Given the description of an element on the screen output the (x, y) to click on. 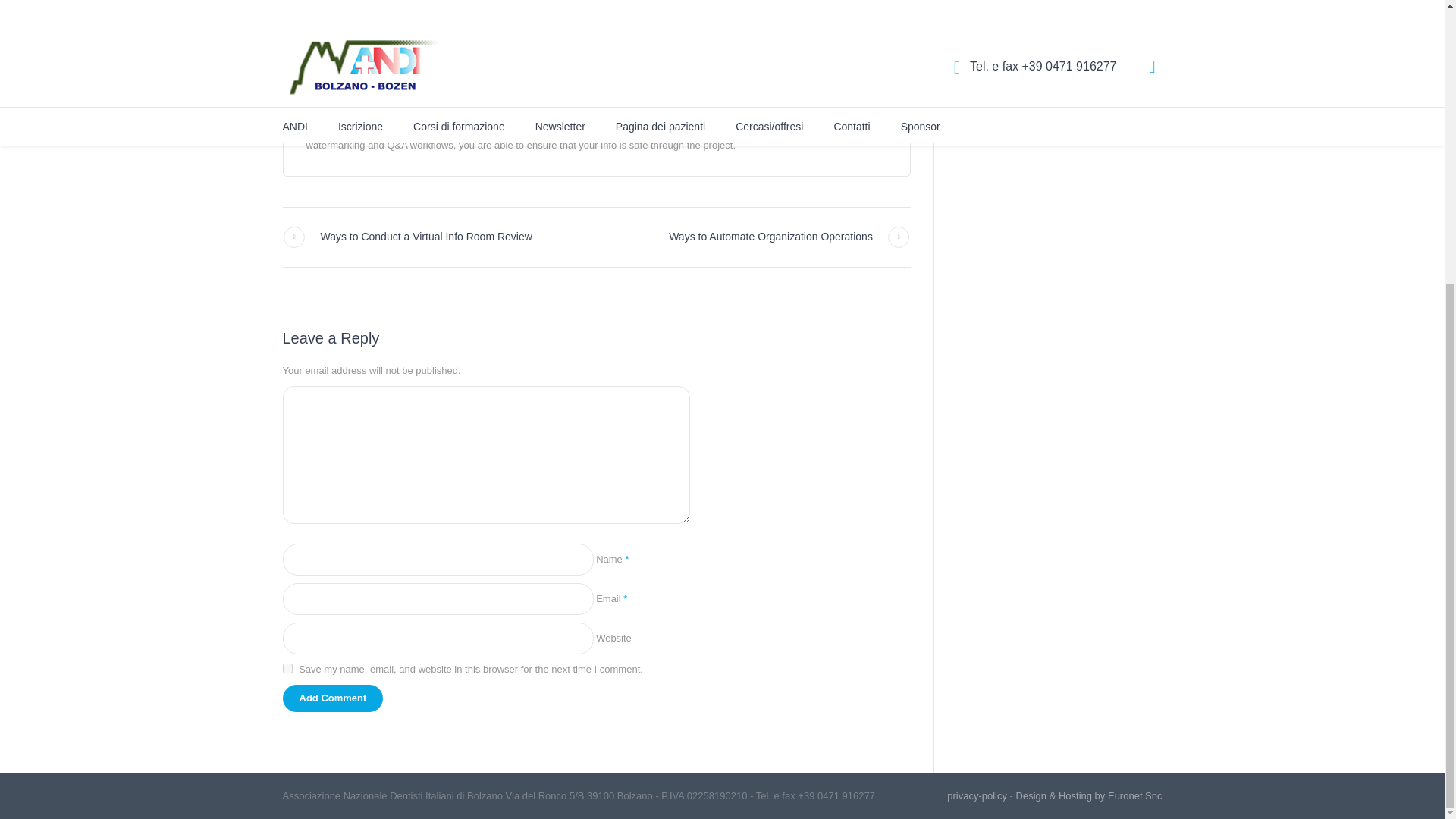
Add Comment (332, 697)
yes (287, 668)
